Given the description of an element on the screen output the (x, y) to click on. 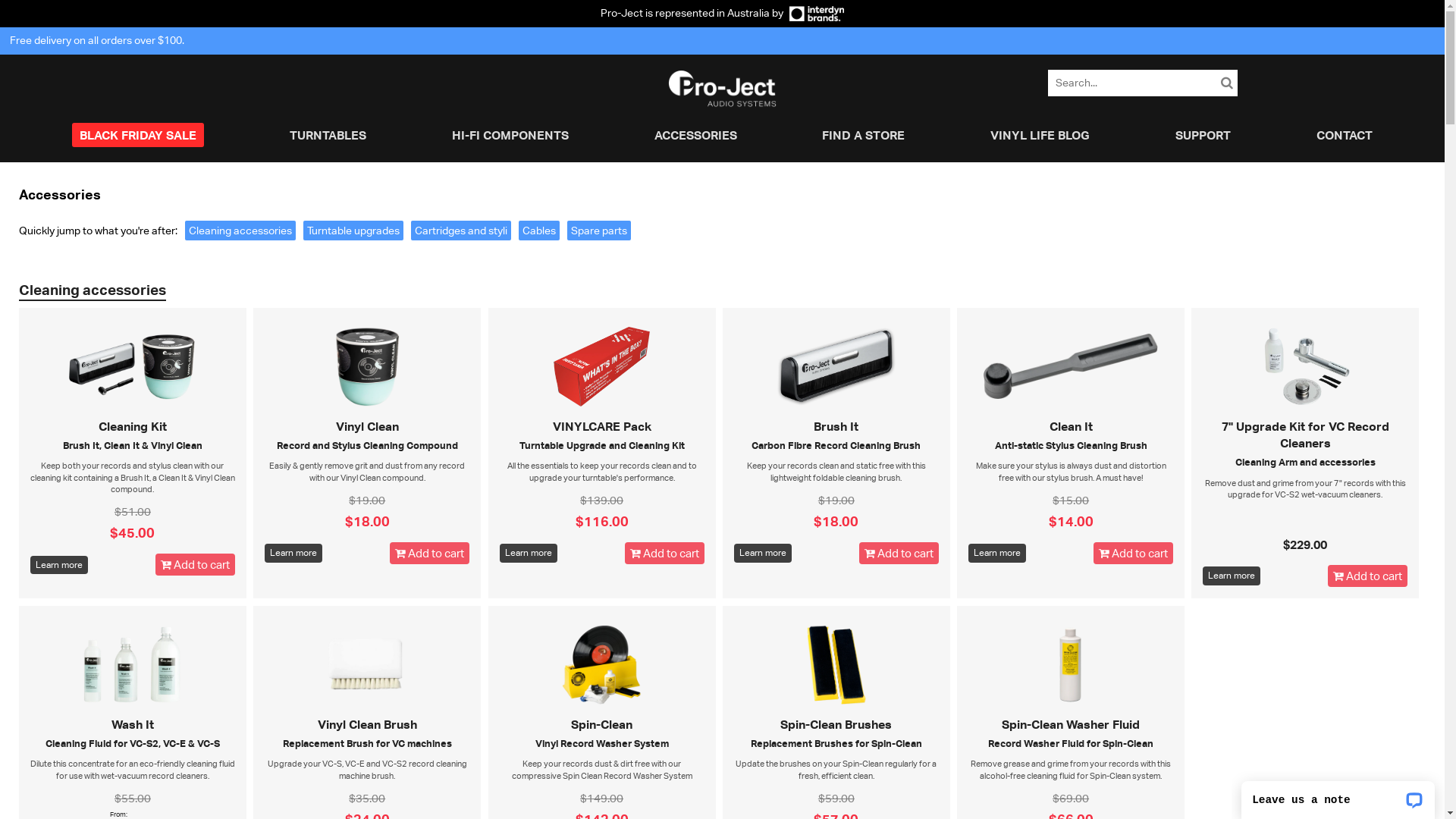
ACCESSORIES Element type: text (695, 134)
TURNTABLES Element type: text (327, 134)
Turntable Upgrade and Cleaning Kit Element type: text (601, 445)
Learn more Element type: text (528, 552)
Cleaning accessories Element type: text (240, 230)
SUPPORT Element type: text (1202, 134)
CONTACT Element type: text (1344, 134)
Cables Element type: text (538, 230)
Record Washer Fluid for Spin-Clean Element type: text (1070, 743)
Free delivery on all orders over $100. Element type: text (96, 40)
Add to cart Element type: text (898, 553)
Learn more Element type: text (293, 552)
Add to cart Element type: text (1367, 575)
Turntable upgrades Element type: text (353, 230)
Replacement Brushes for Spin-Clean Element type: text (836, 743)
Learn more Element type: text (1231, 575)
Cleaning Fluid for VC-S2, VC-E & VC-S Element type: text (132, 743)
7" Upgrade Kit for VC Record Cleaners Element type: text (1305, 434)
Add to cart Element type: text (1133, 553)
Clean It Element type: text (1070, 425)
HI-FI COMPONENTS Element type: text (509, 134)
Brush It, Clean It & Vinyl Clean Element type: text (132, 445)
Carbon Fibre Record Cleaning Brush Element type: text (835, 445)
Cleaning Arm and accessories Element type: text (1305, 461)
Wash It Element type: text (132, 723)
Learn more Element type: text (58, 564)
VINYL LIFE BLOG Element type: text (1039, 134)
Brush It Element type: text (835, 425)
Spin-Clean Brushes Element type: text (835, 723)
Learn more Element type: text (997, 552)
BLACK FRIDAY SALE Element type: text (137, 134)
Vinyl Clean Brush Element type: text (367, 723)
Spin-Clean Washer Fluid Element type: text (1070, 723)
Spin-Clean Element type: text (601, 723)
Add to cart Element type: text (664, 553)
Cleaning Kit Element type: text (132, 425)
Vinyl Record Washer System Element type: text (601, 743)
Vinyl Clean Element type: text (366, 425)
Anti-static Stylus Cleaning Brush Element type: text (1070, 445)
Record and Stylus Cleaning Compound Element type: text (367, 445)
Add to cart Element type: text (195, 564)
Add to cart Element type: text (429, 553)
Cartridges and styli Element type: text (461, 230)
Spare parts Element type: text (598, 230)
Replacement Brush for VC machines Element type: text (366, 743)
VINYLCARE Pack Element type: text (601, 425)
Learn more Element type: text (762, 552)
FIND A STORE Element type: text (863, 134)
